Given the description of an element on the screen output the (x, y) to click on. 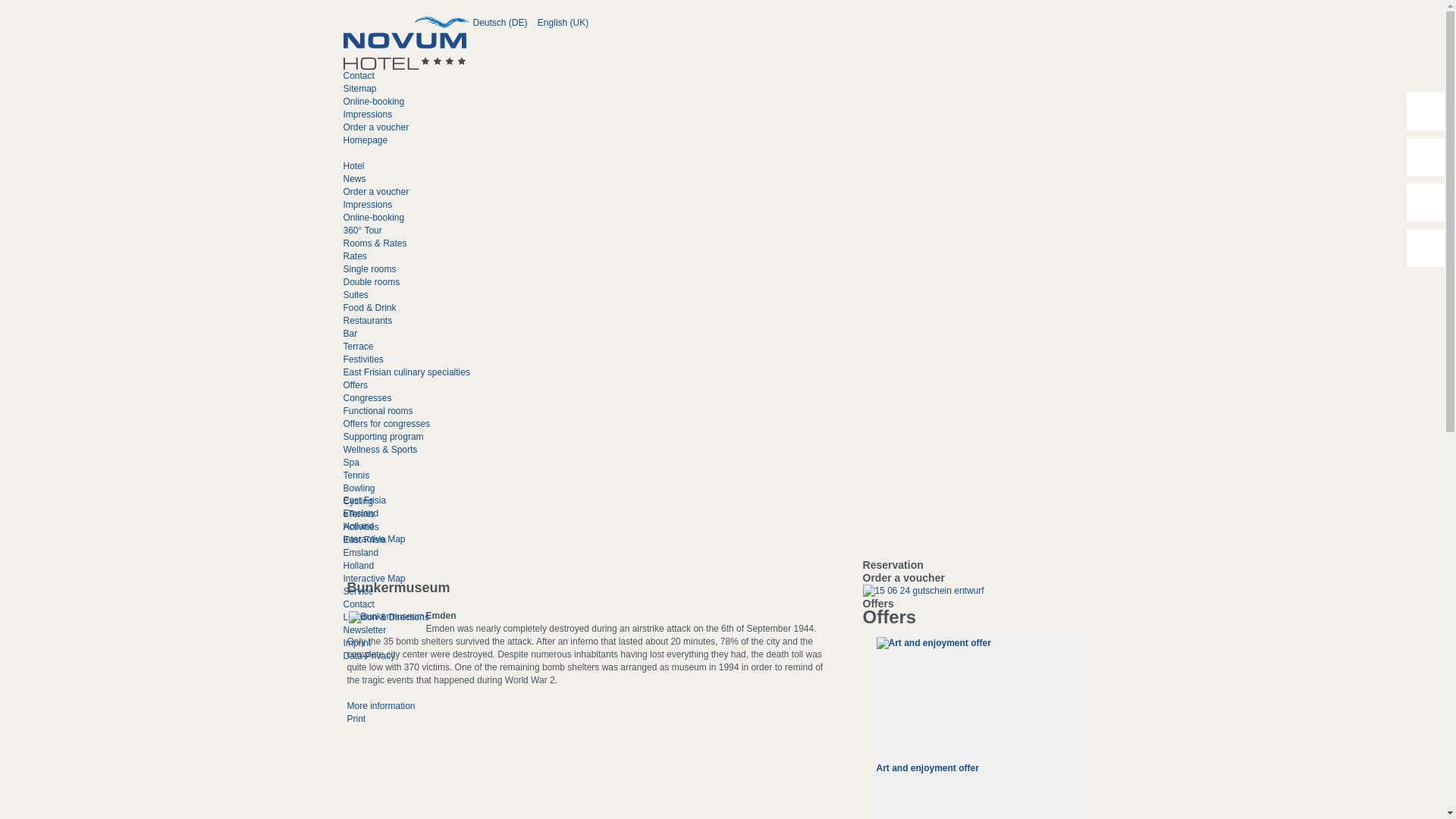
Bowling (358, 488)
Bunkermuseum (386, 616)
Suites (355, 294)
Single rooms (369, 268)
Rates (354, 255)
On the track of Otto Waalkes (941, 643)
News (353, 178)
Spa (350, 462)
Homepage (364, 140)
Impressions (366, 204)
Gutschein bestellen (923, 590)
Contact (358, 75)
Impressions (366, 113)
Double rooms (370, 281)
Island-hopping (980, 764)
